Given the description of an element on the screen output the (x, y) to click on. 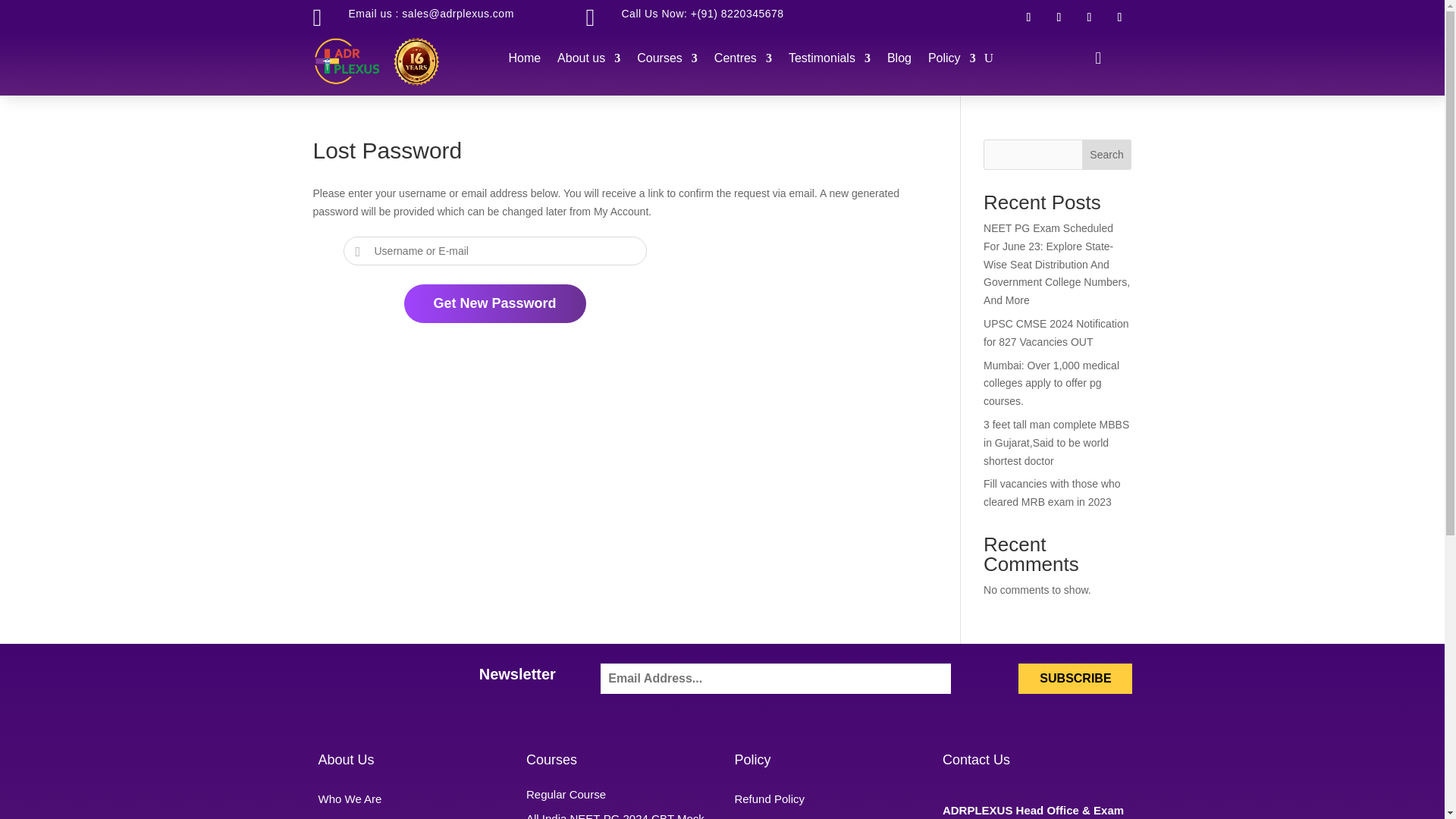
Centres (742, 61)
Testimonials (829, 61)
Follow on Youtube (1118, 16)
Home (524, 61)
Courses (667, 61)
SUBSCRIBE (1074, 678)
Follow on X (1088, 16)
About us (588, 61)
Get New Password (494, 303)
Follow on Instagram (1058, 16)
